Given the description of an element on the screen output the (x, y) to click on. 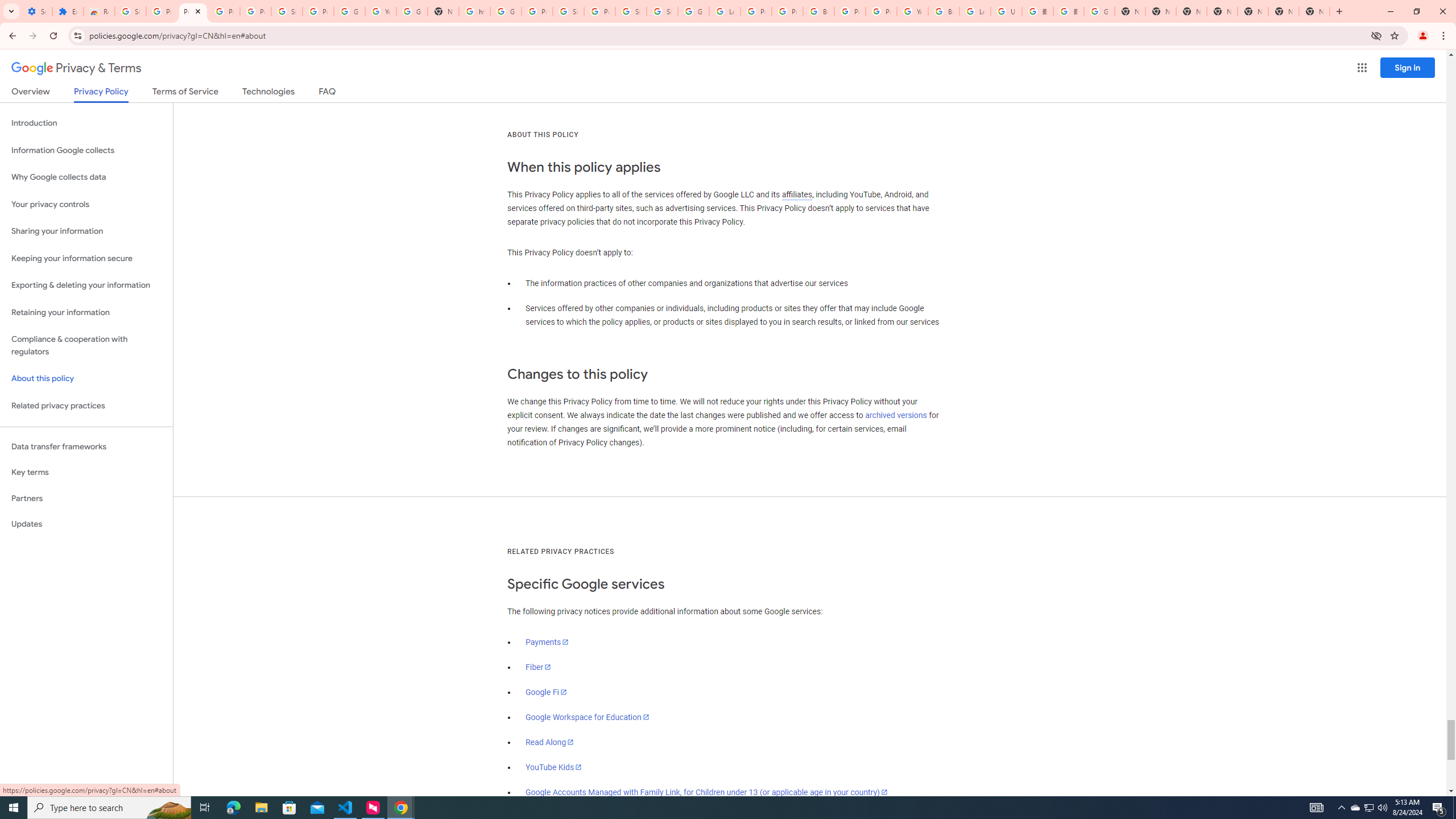
Sharing your information (86, 230)
New Tab (1222, 11)
Payments (547, 642)
Sign in - Google Accounts (631, 11)
Settings - On startup (36, 11)
Related privacy practices (86, 405)
Reviews: Helix Fruit Jump Arcade Game (98, 11)
Google Images (1098, 11)
